Given the description of an element on the screen output the (x, y) to click on. 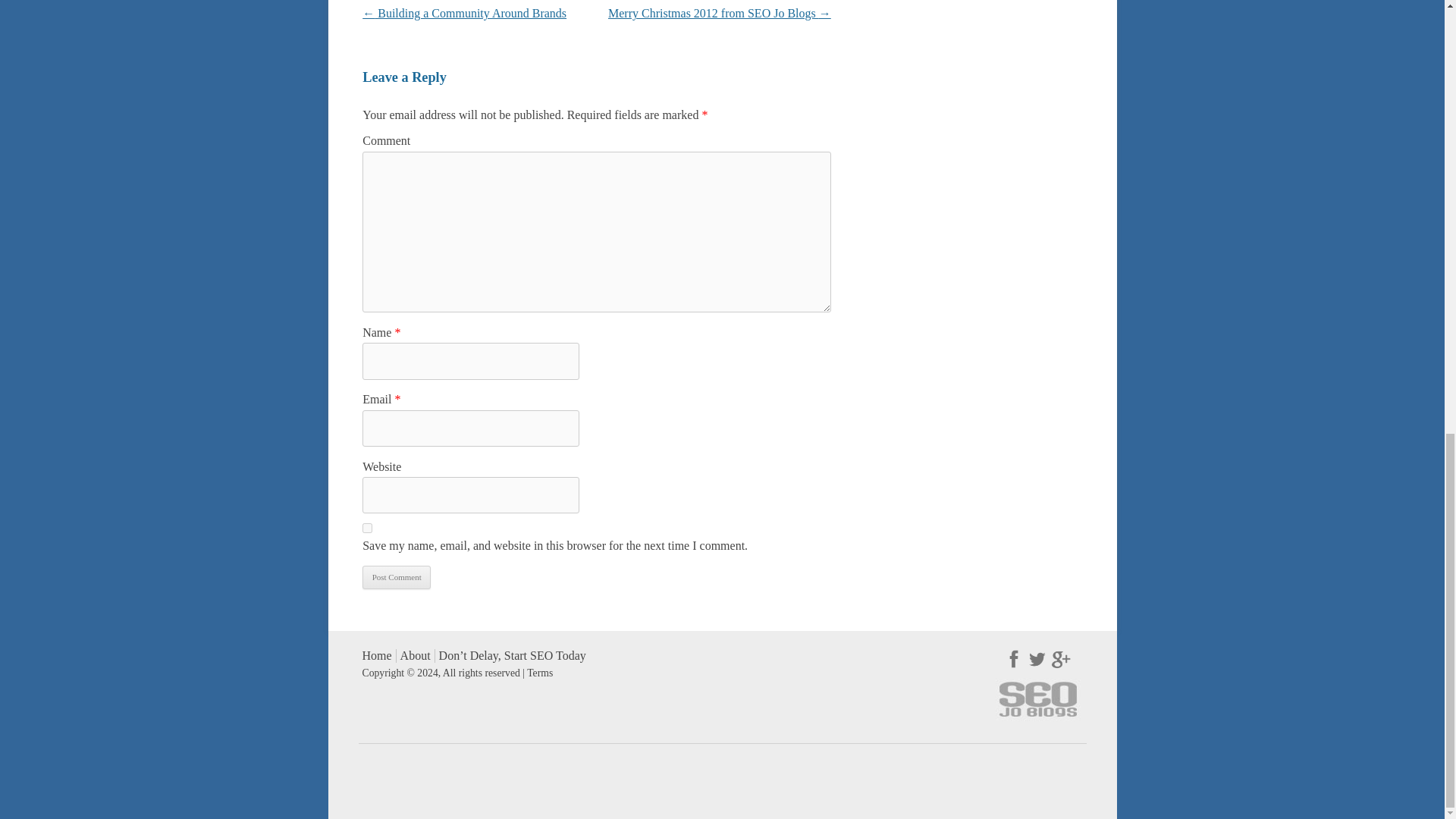
Post Comment (396, 576)
Post Comment (396, 576)
yes (367, 528)
